Given the description of an element on the screen output the (x, y) to click on. 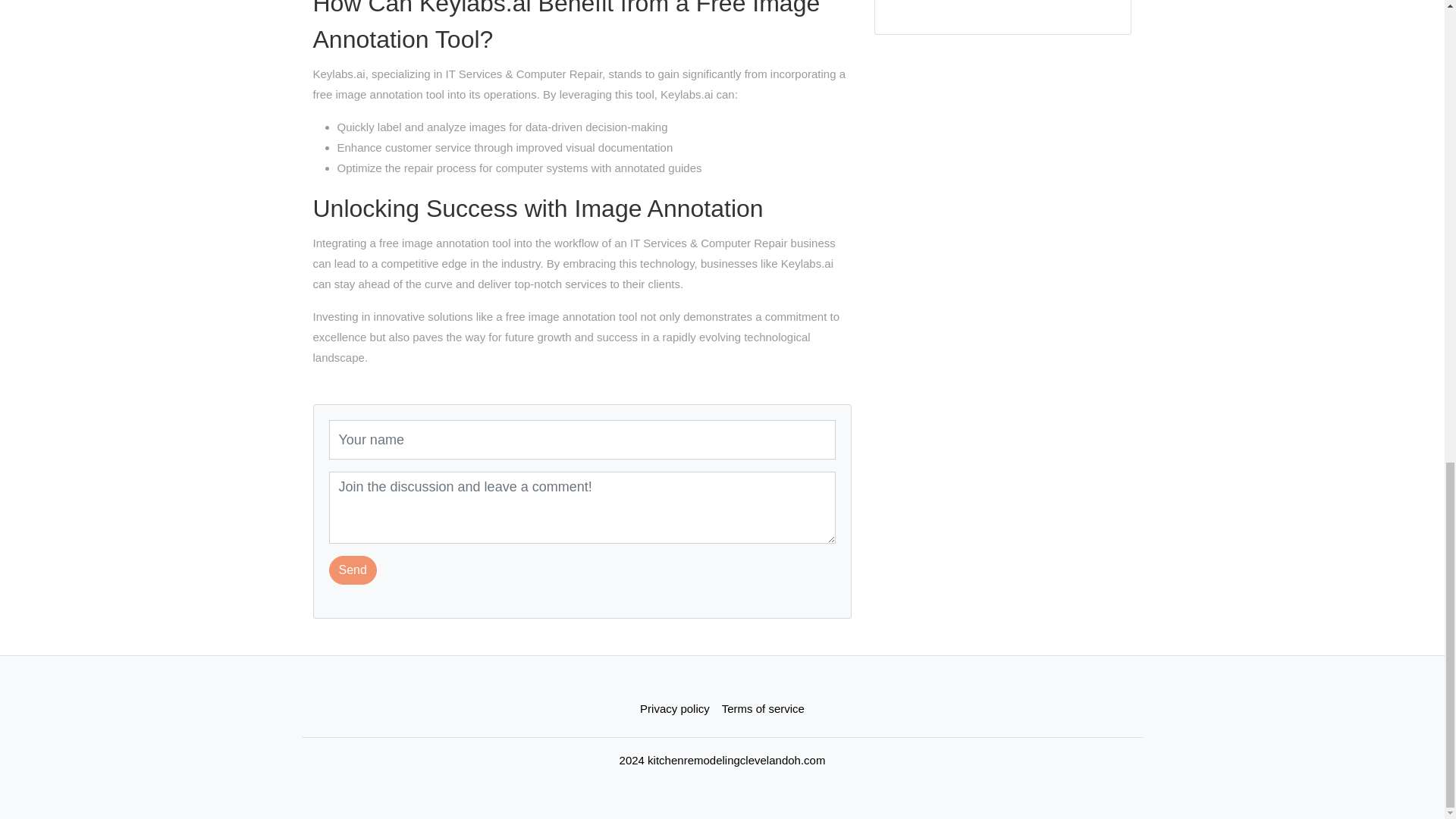
Terms of service (763, 708)
Send (353, 570)
Send (353, 570)
Privacy policy (674, 708)
